Given the description of an element on the screen output the (x, y) to click on. 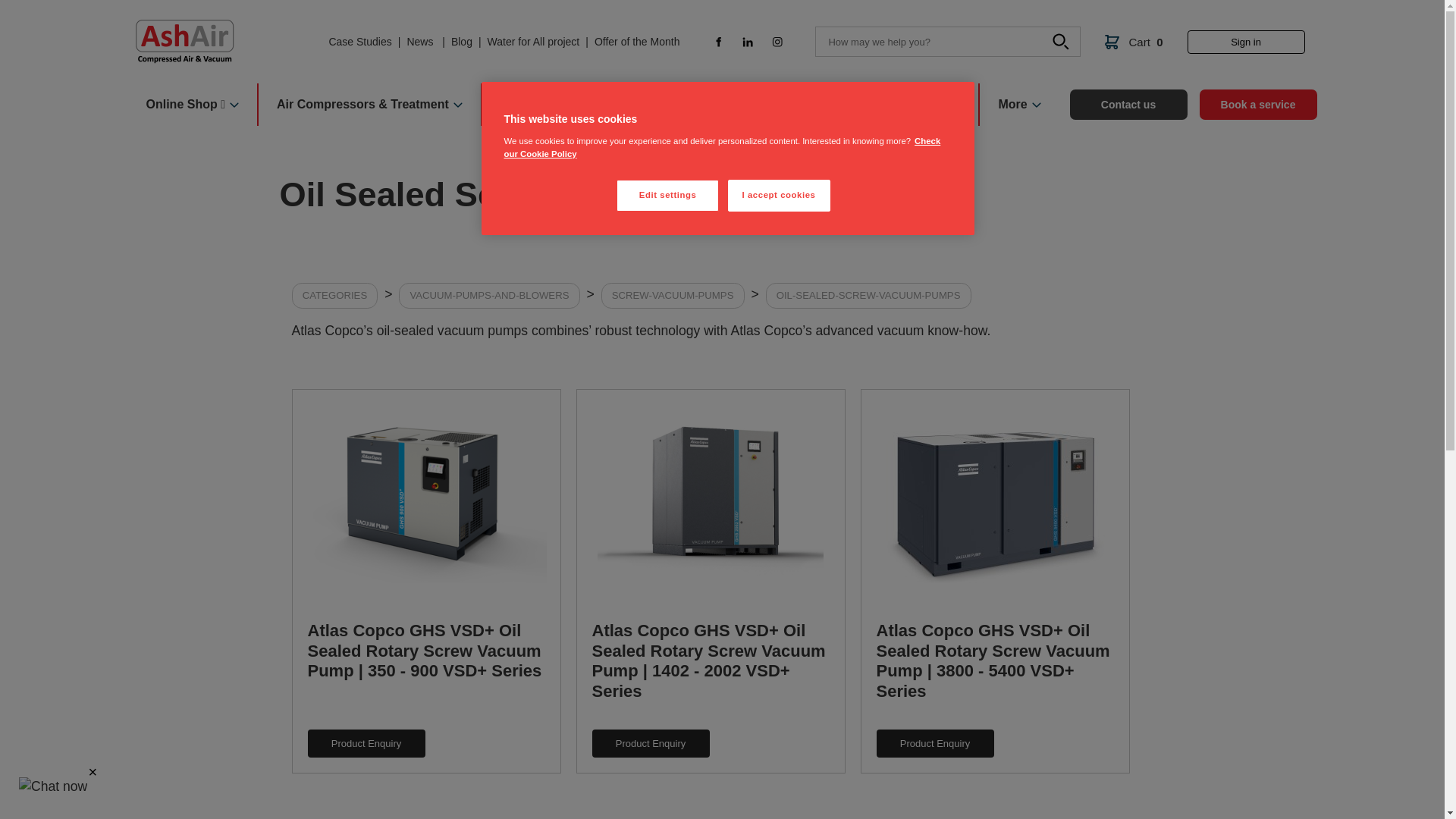
View your shopping cart (1133, 42)
Case Studies (360, 41)
Sign in (1246, 42)
News  (420, 41)
Returning customers login (1246, 42)
Water for All project (533, 41)
Blog (461, 41)
Instagram (776, 41)
Cart  0 (1133, 42)
LinkedIn (747, 41)
